Given the description of an element on the screen output the (x, y) to click on. 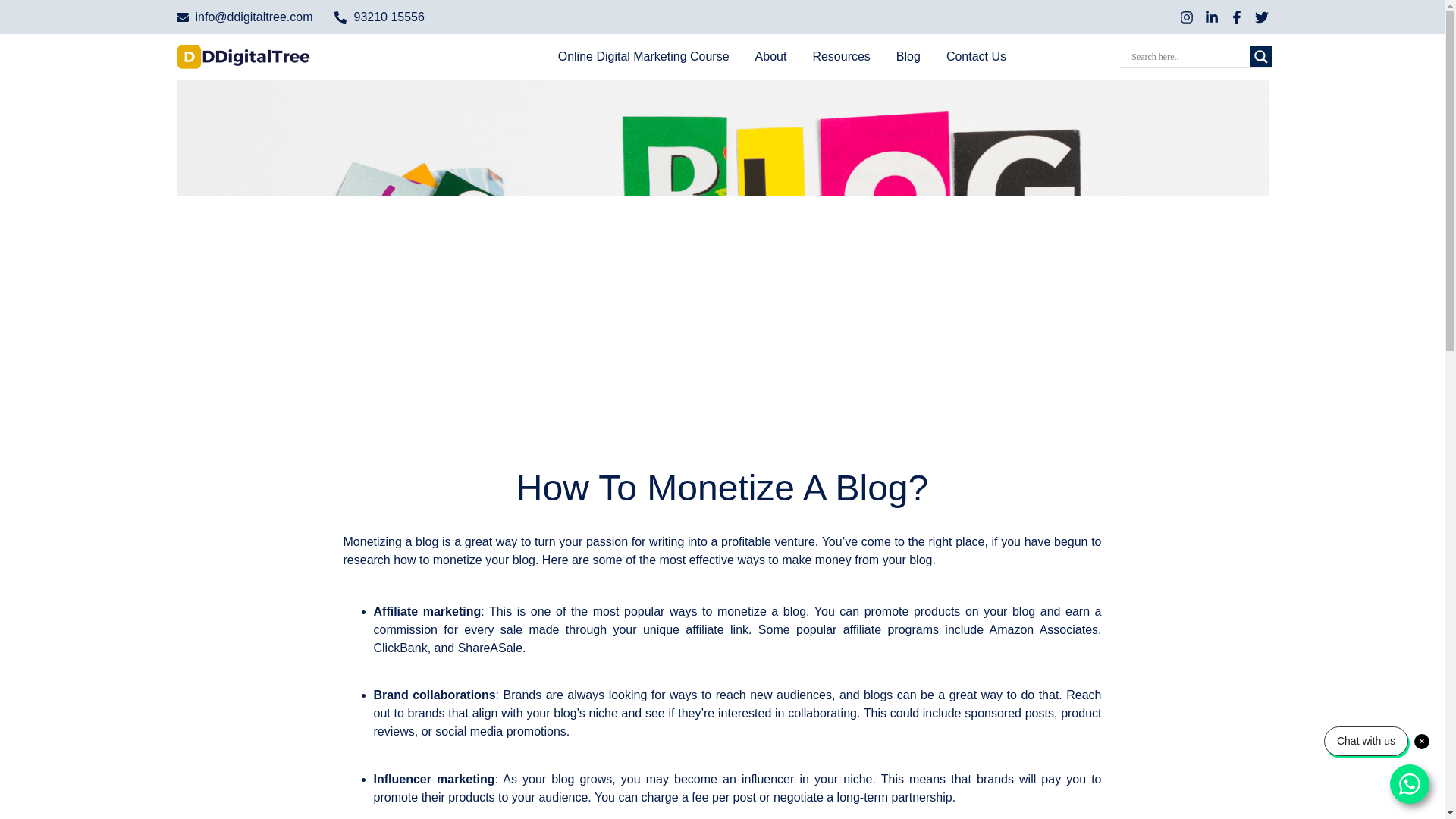
About (771, 56)
Blog (908, 56)
Resources (840, 56)
Contact Us (976, 56)
93210 15556 (378, 16)
Online Digital Marketing Course (643, 56)
